Given the description of an element on the screen output the (x, y) to click on. 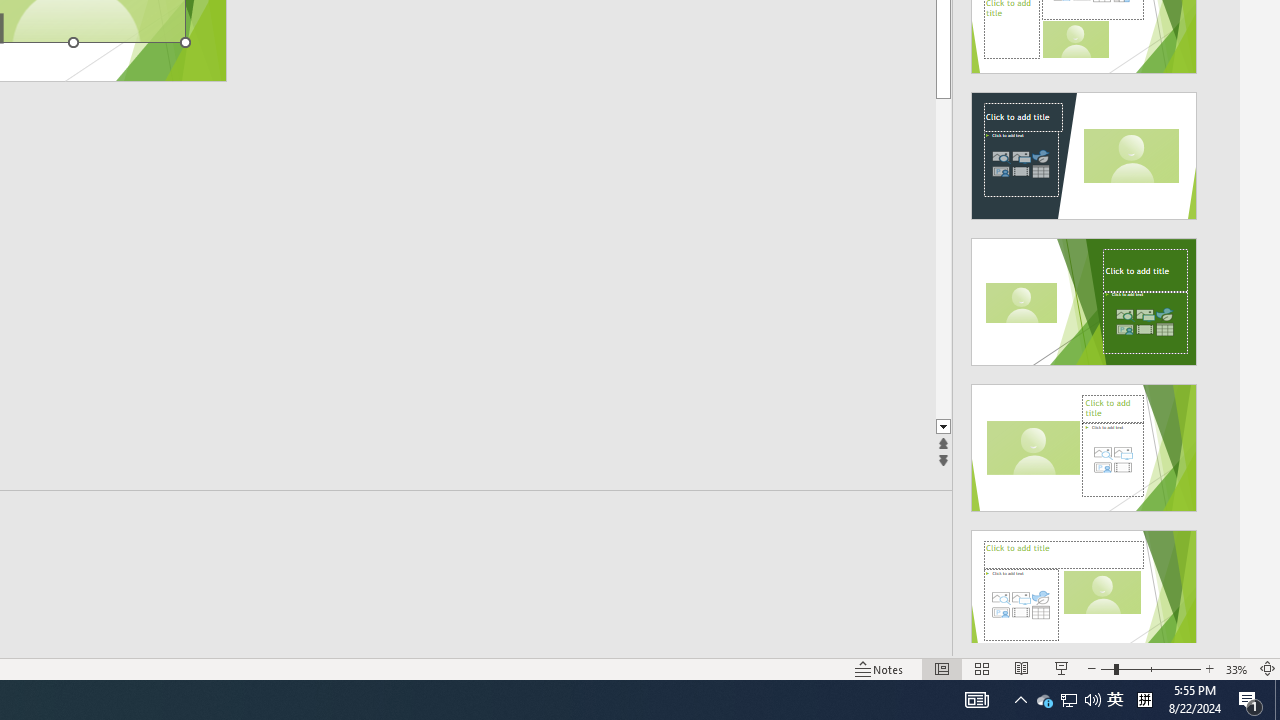
Zoom 33% (1236, 668)
